Given the description of an element on the screen output the (x, y) to click on. 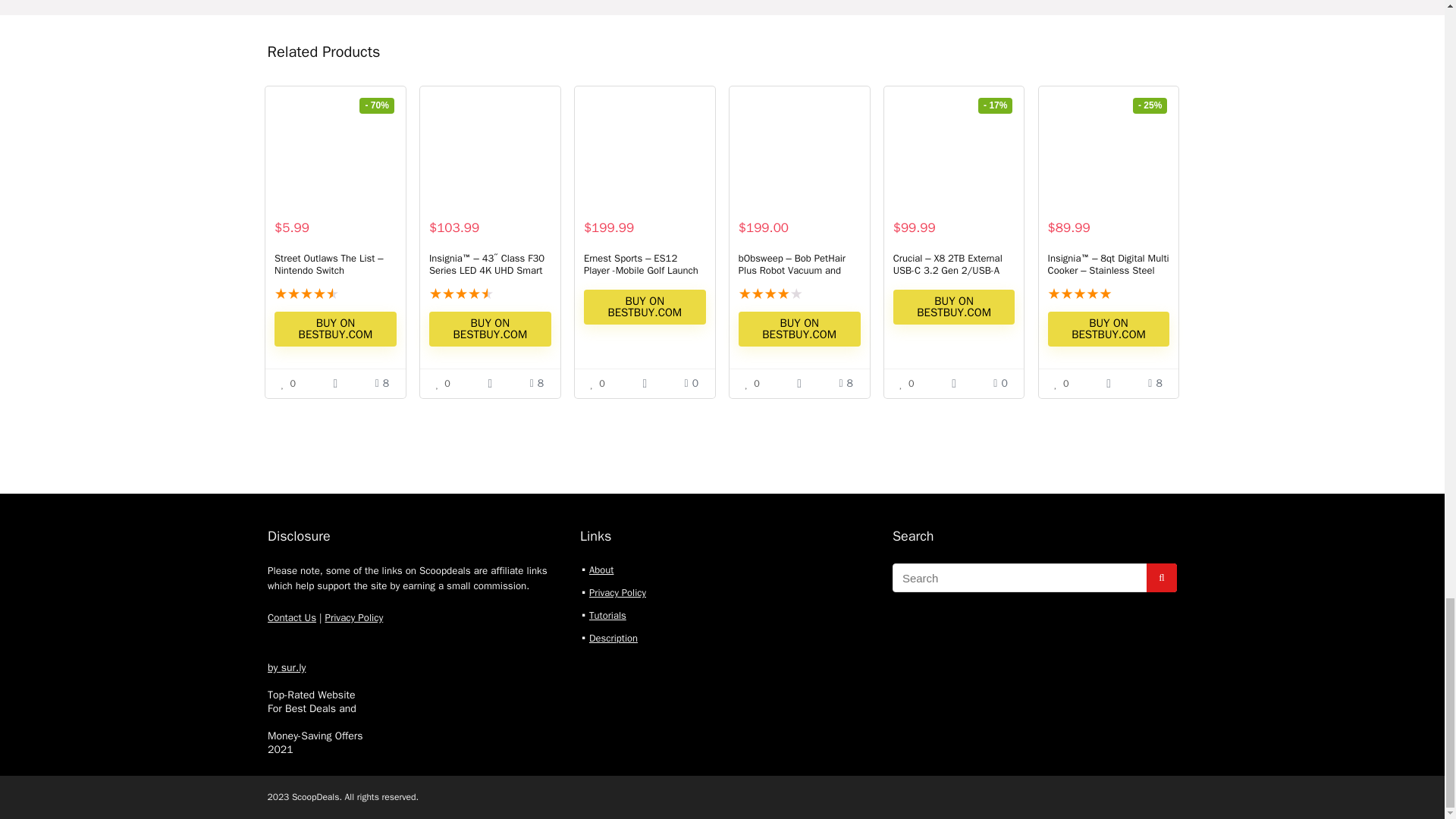
Rated 4.5 out of 5 (335, 293)
Rated 4.88 out of 5 (490, 293)
Rated 4.13 out of 5 (799, 293)
